Given the description of an element on the screen output the (x, y) to click on. 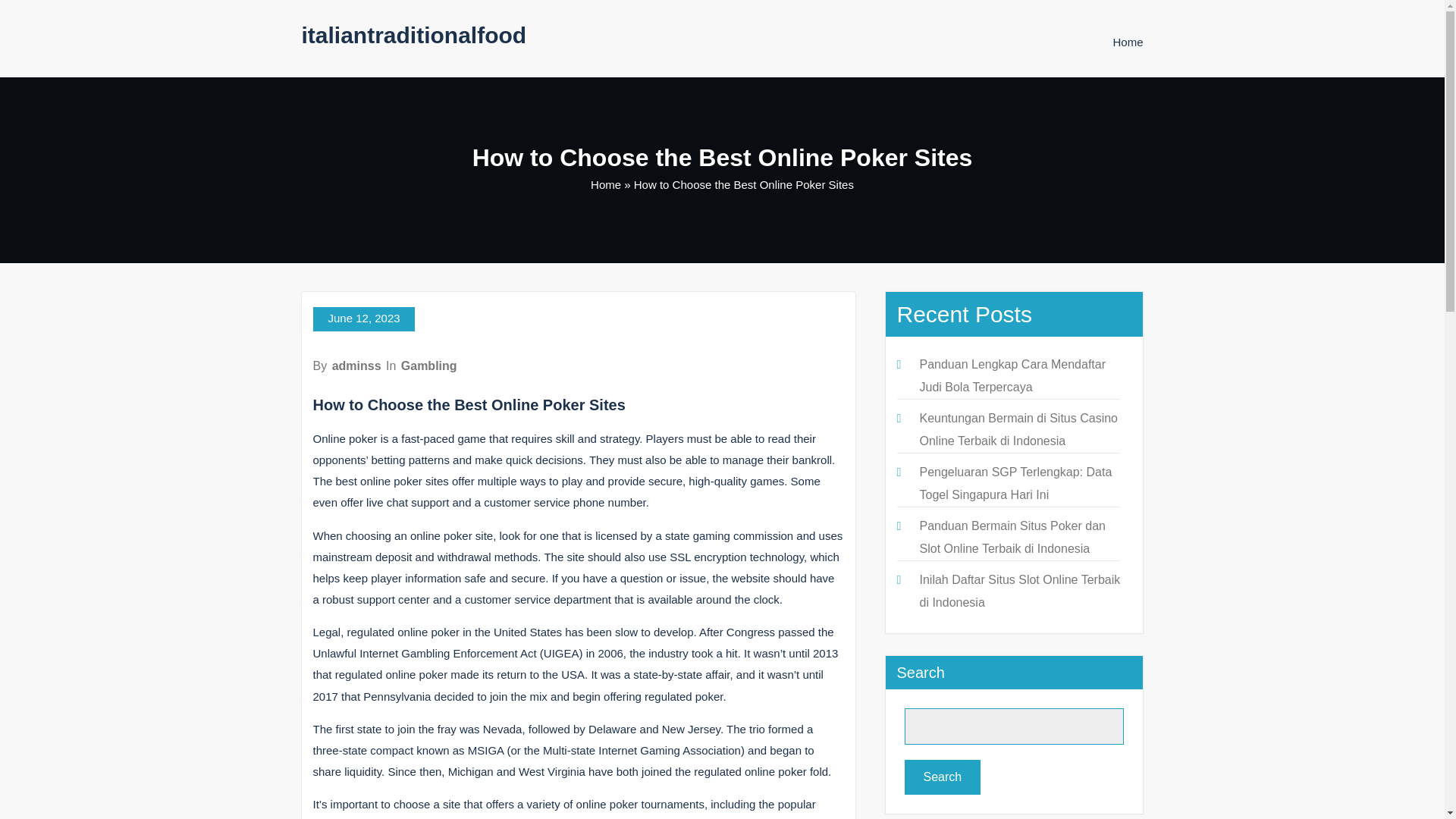
Pengeluaran SGP Terlengkap: Data Togel Singapura Hari Ini (1015, 483)
Search (941, 777)
Home (1127, 41)
Home (1127, 41)
Home (606, 184)
June 12, 2023 (363, 319)
adminss (356, 365)
italiantraditionalfood (414, 34)
Gambling (428, 365)
